Given the description of an element on the screen output the (x, y) to click on. 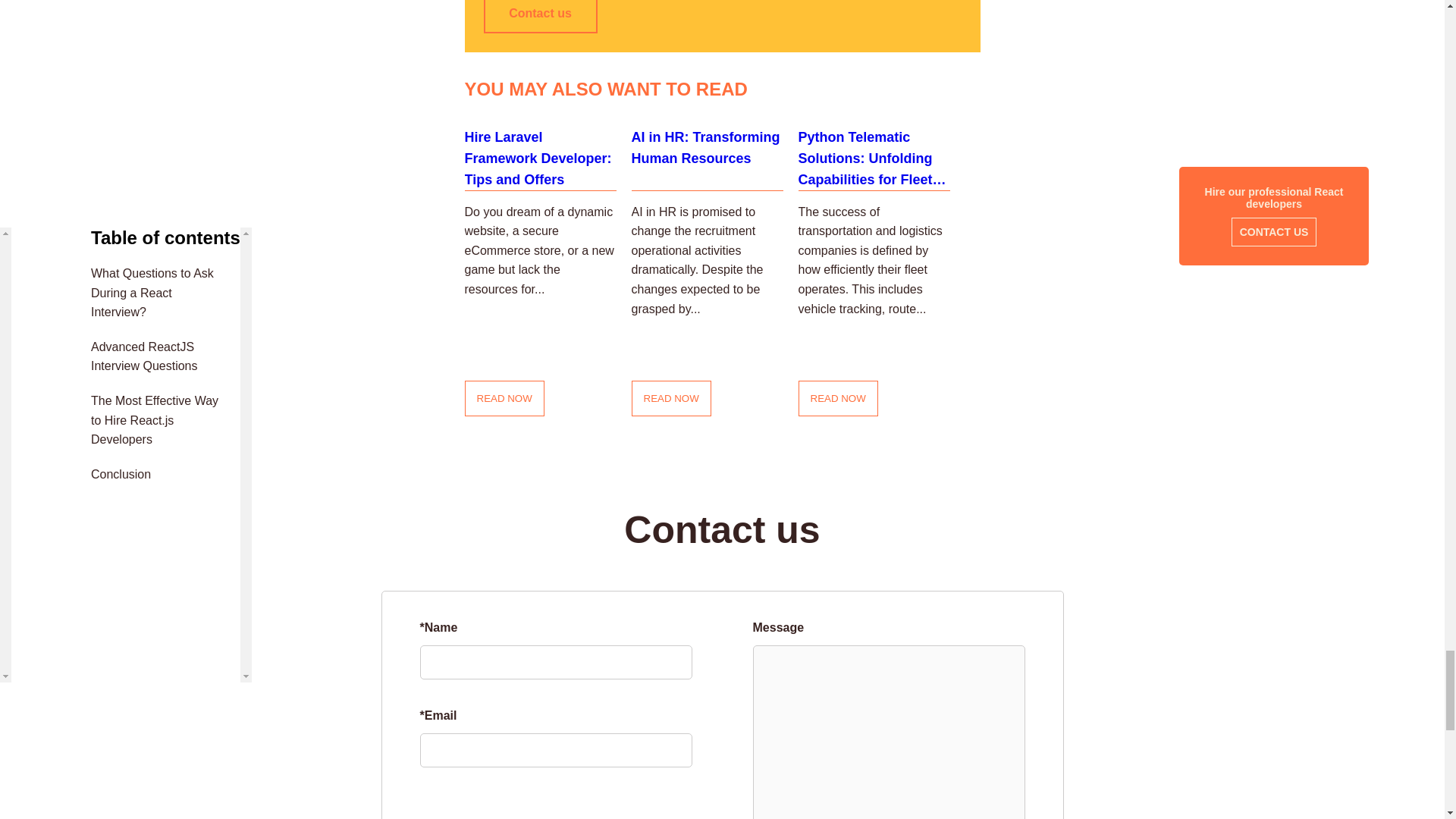
Contact us (539, 16)
READ NOW (503, 398)
Hire Laravel Framework Developer: Tips and Offers (539, 152)
